Given the description of an element on the screen output the (x, y) to click on. 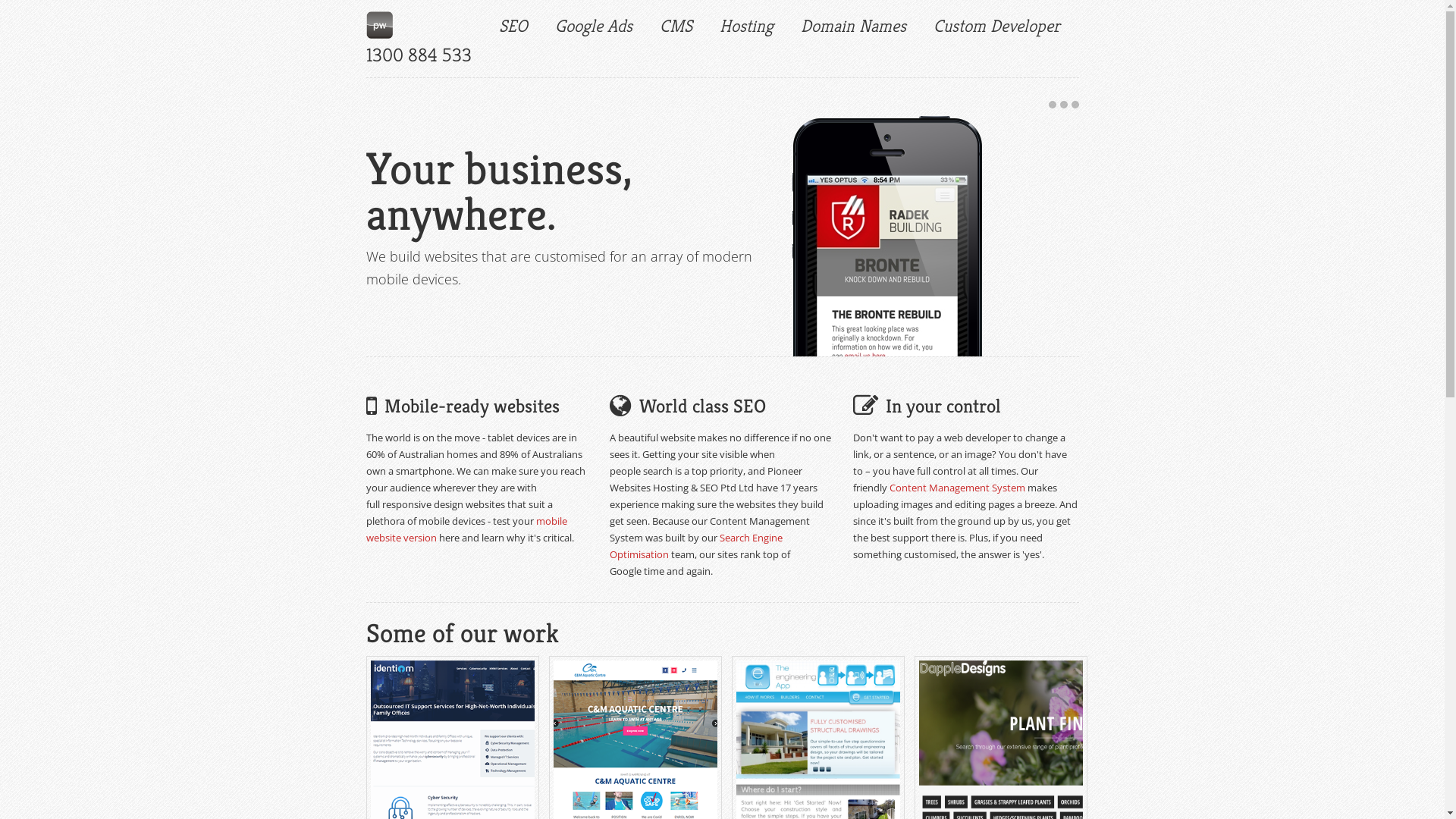
Search Engine Optimisation Element type: text (695, 545)
mobile website version Element type: text (465, 529)
Domain Names Element type: text (853, 26)
Google Ads Element type: text (593, 26)
Home - Pioneer Websites Element type: hover (381, 30)
SEO Element type: text (512, 26)
Custom Developer Element type: text (996, 26)
1300 884 533 Element type: text (417, 54)
Content Management System Element type: text (957, 487)
Pioneer Websites Element type: hover (378, 24)
Hosting Element type: text (746, 26)
CMS Element type: text (675, 26)
